Given the description of an element on the screen output the (x, y) to click on. 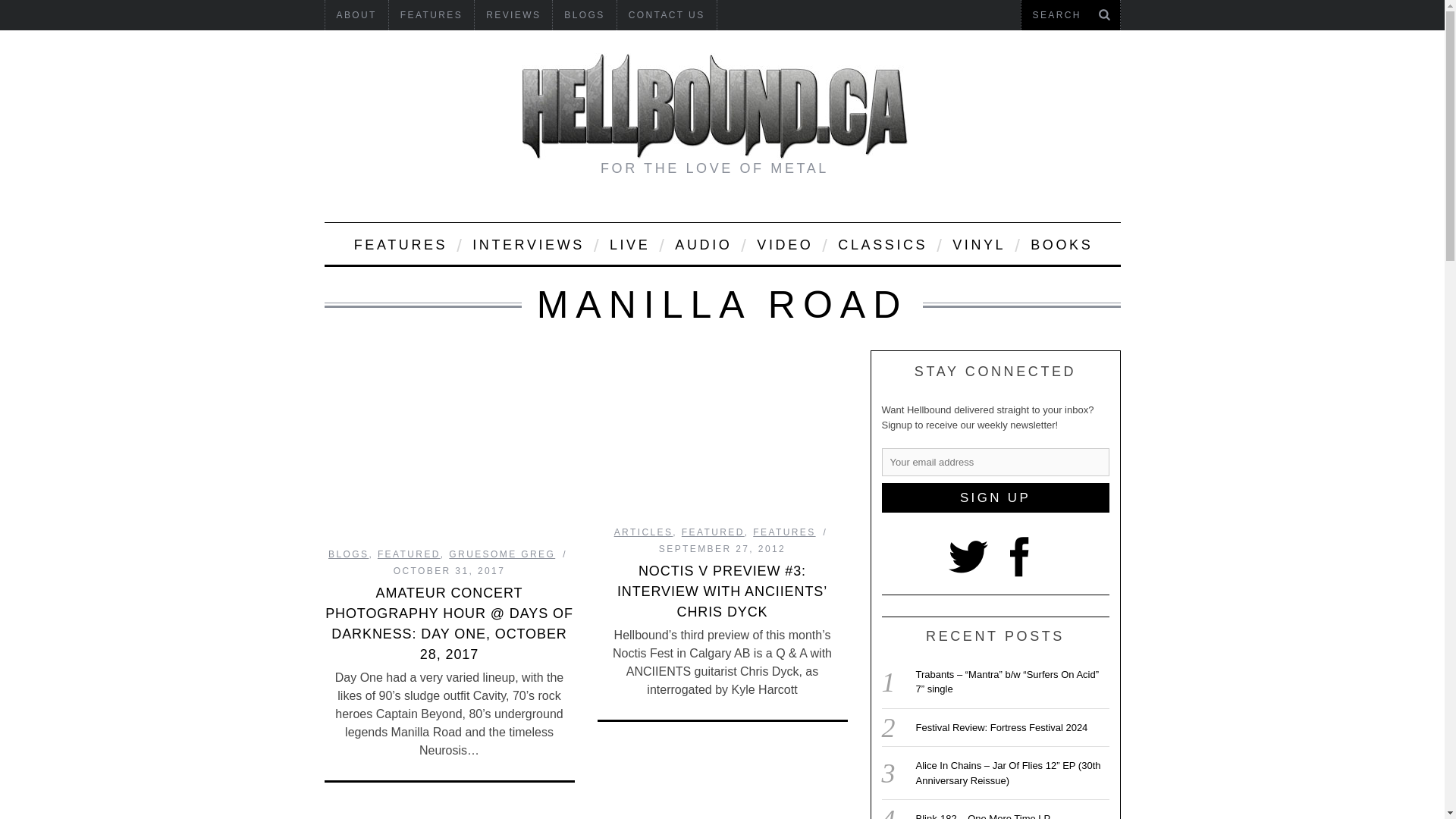
Search (1070, 15)
ABOUT (355, 14)
Hellbound.ca - FOR THE LOVE OF METAL (714, 106)
FEATURES (431, 14)
FEATURES (399, 243)
LIVE (628, 243)
CONTACT US (666, 14)
Sign up (994, 497)
INTERVIEWS (527, 243)
REVIEWS (512, 14)
